Given the description of an element on the screen output the (x, y) to click on. 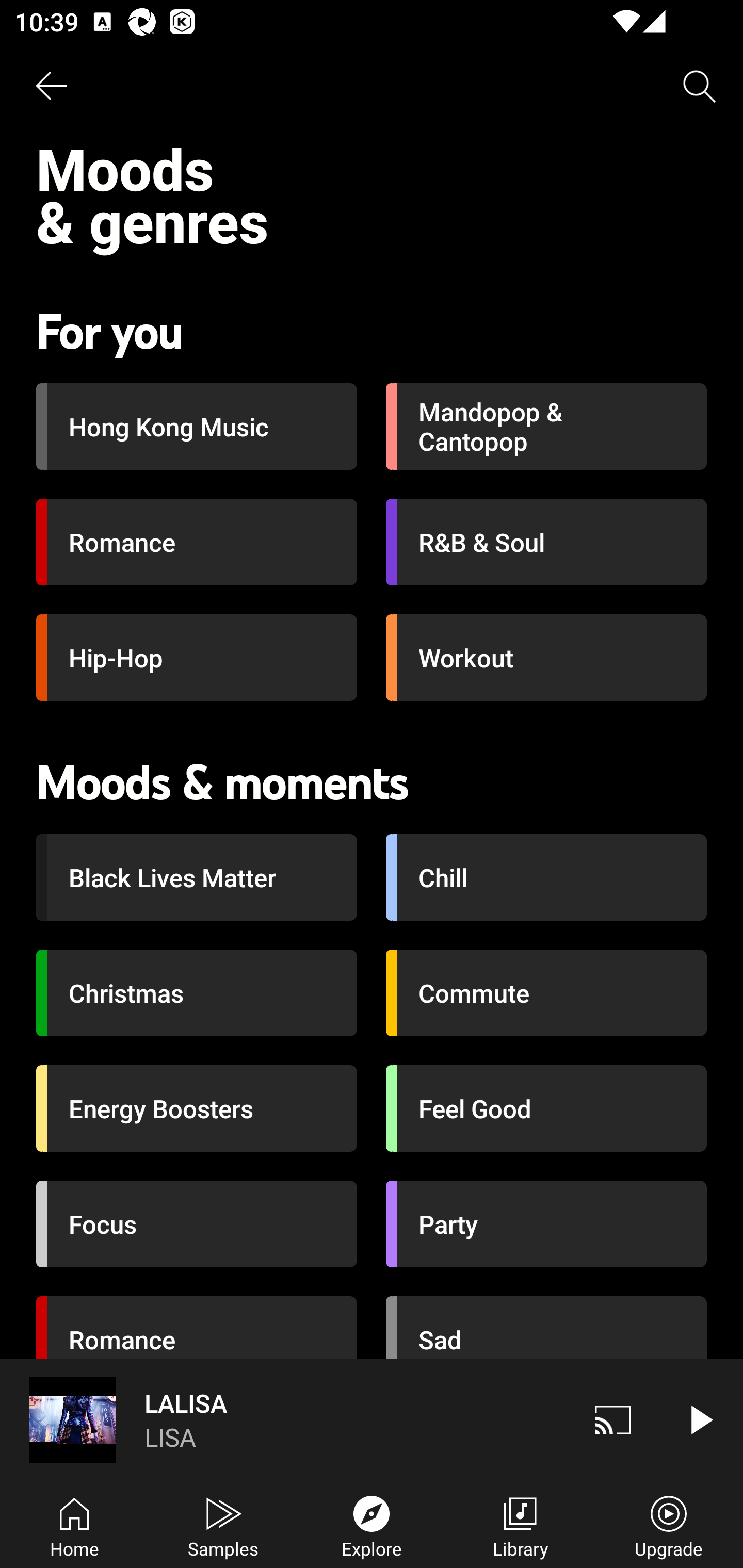
Back (50, 86)
Search (699, 86)
LALISA LISA (284, 1419)
Cast. Disconnected (612, 1419)
Play video (699, 1419)
Home (74, 1524)
Samples (222, 1524)
Library (519, 1524)
Upgrade (668, 1524)
